Given the description of an element on the screen output the (x, y) to click on. 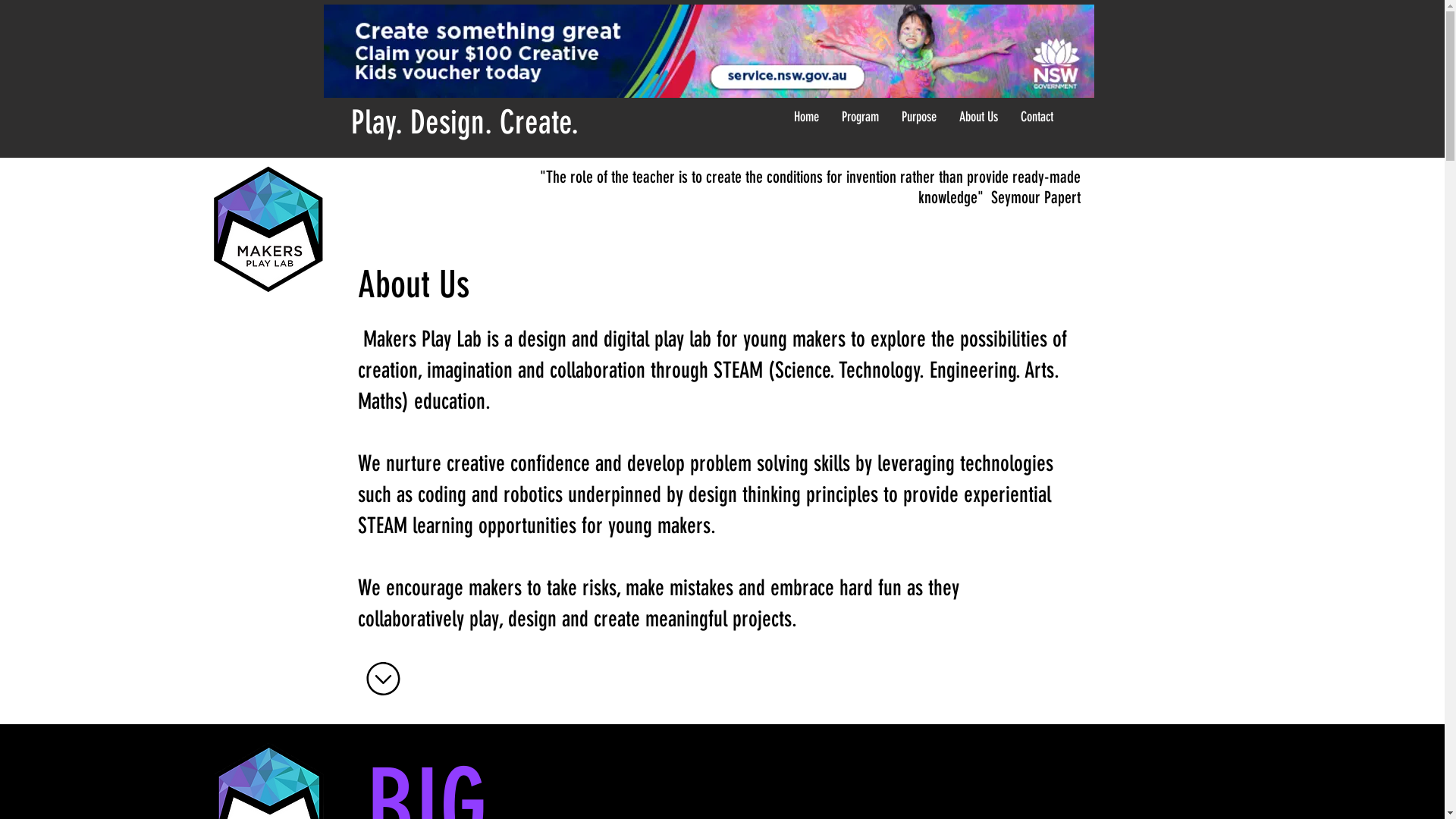
Program Element type: text (859, 116)
Home Element type: text (806, 116)
About Us Element type: text (978, 116)
Contact Element type: text (1035, 116)
Purpose Element type: text (918, 116)
